Given the description of an element on the screen output the (x, y) to click on. 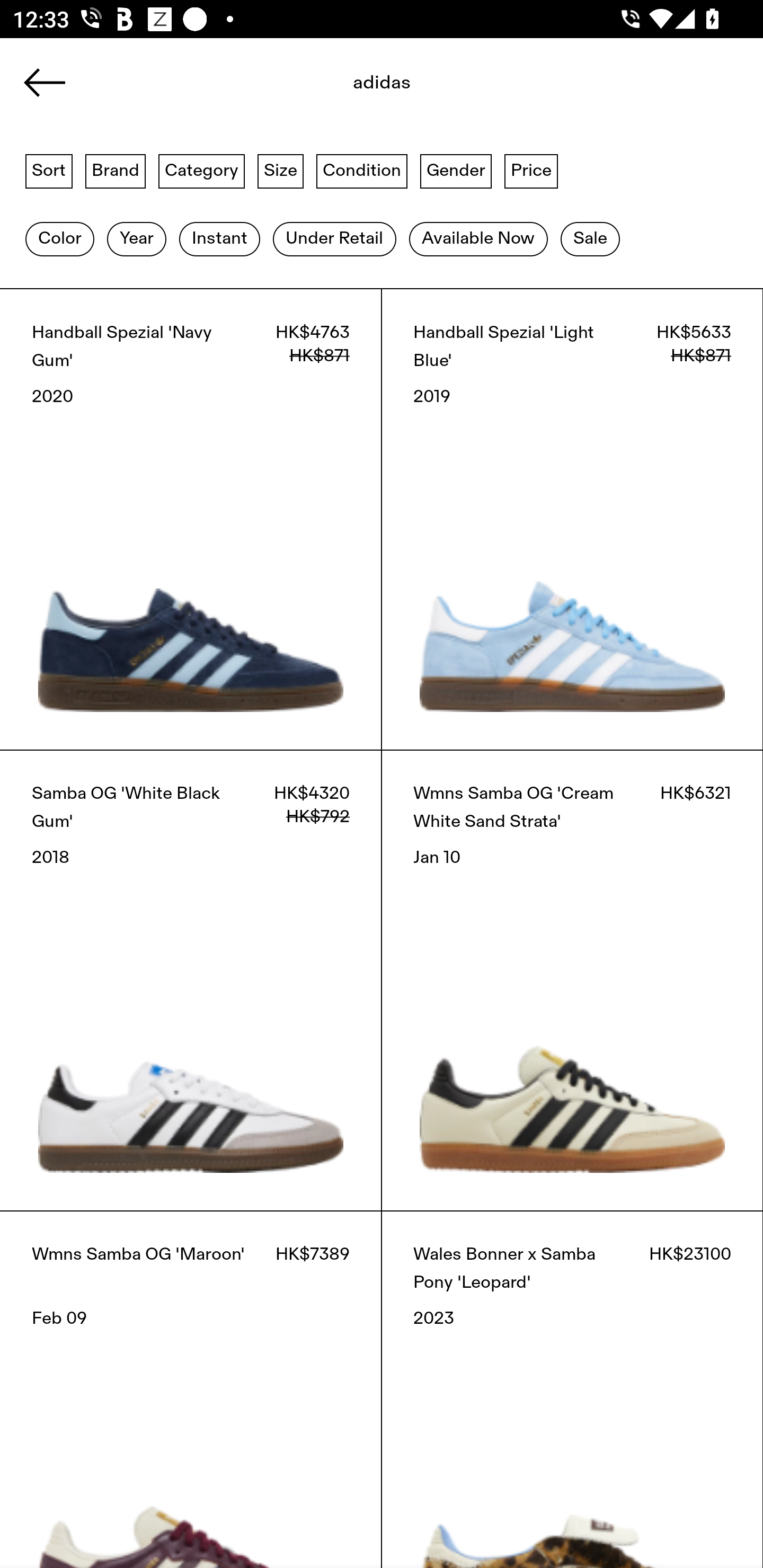
Search (381, 88)
Sort (48, 170)
Brand (115, 170)
Category (201, 170)
Size (280, 170)
Condition (361, 170)
Gender (455, 170)
Price (530, 170)
Color (59, 239)
Year (136, 239)
Instant (219, 239)
Under Retail (334, 239)
Available Now (477, 239)
Sale (589, 239)
Handball Spezial 'Navy Gum' HK$4763 HK$871 2020 (190, 518)
Handball Spezial 'Light Blue' HK$5633 HK$871 2019 (572, 518)
Samba OG 'White Black Gum' HK$4320 HK$792 2018 (190, 979)
Wmns Samba OG 'Maroon' HK$7389 Feb 09 (190, 1389)
Wales Bonner x Samba Pony 'Leopard' HK$23100 2023 (572, 1389)
